Given the description of an element on the screen output the (x, y) to click on. 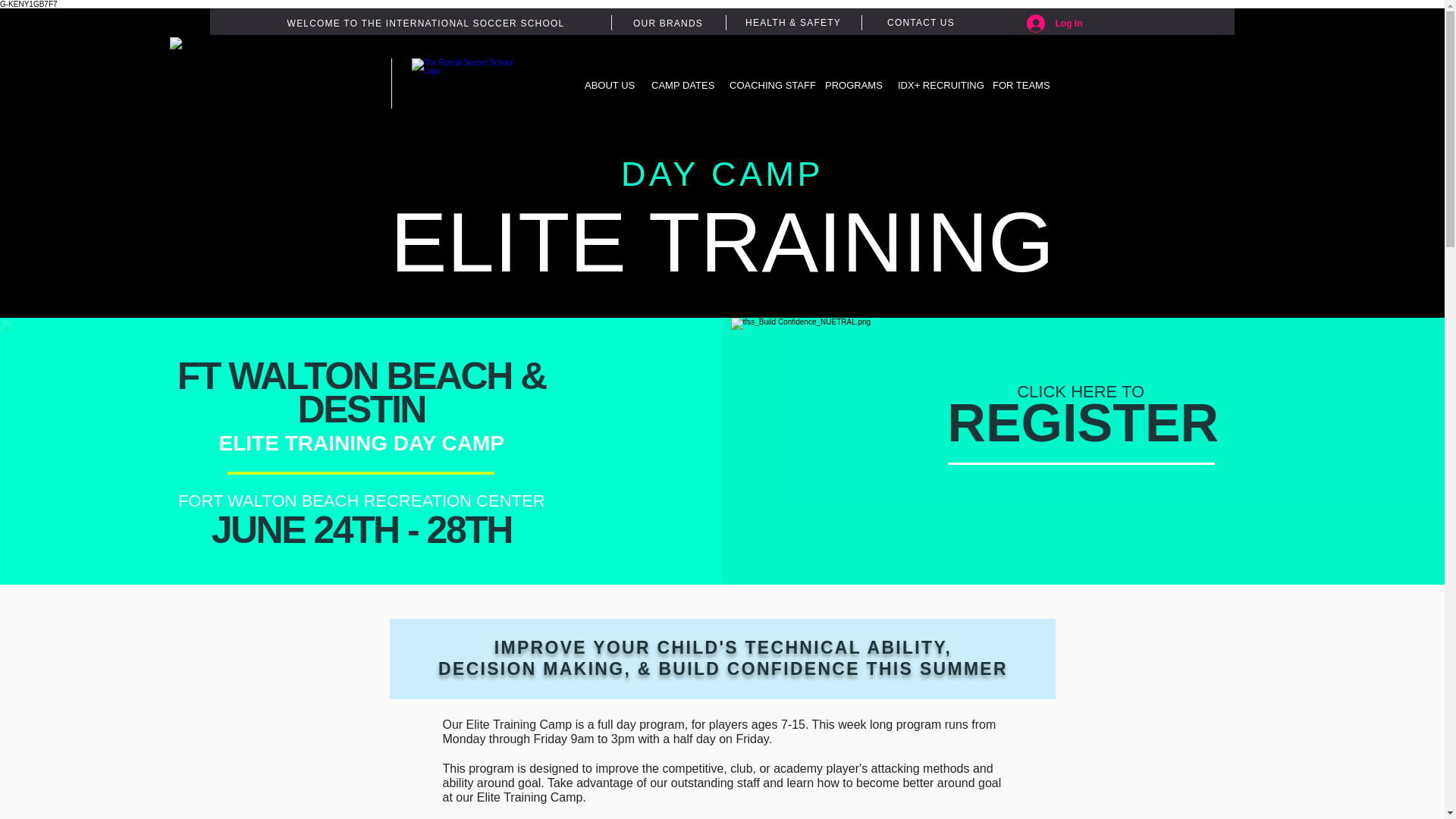
COACHING STAFF (765, 85)
Log In (1054, 22)
ABOUT US (606, 85)
OUR BRANDS (668, 23)
JUNE 24 (281, 529)
CONTACT US (920, 22)
CAMP DATES (678, 85)
WELCOME TO THE INTERNATIONAL SOCCER SCHOOL (1082, 413)
